Given the description of an element on the screen output the (x, y) to click on. 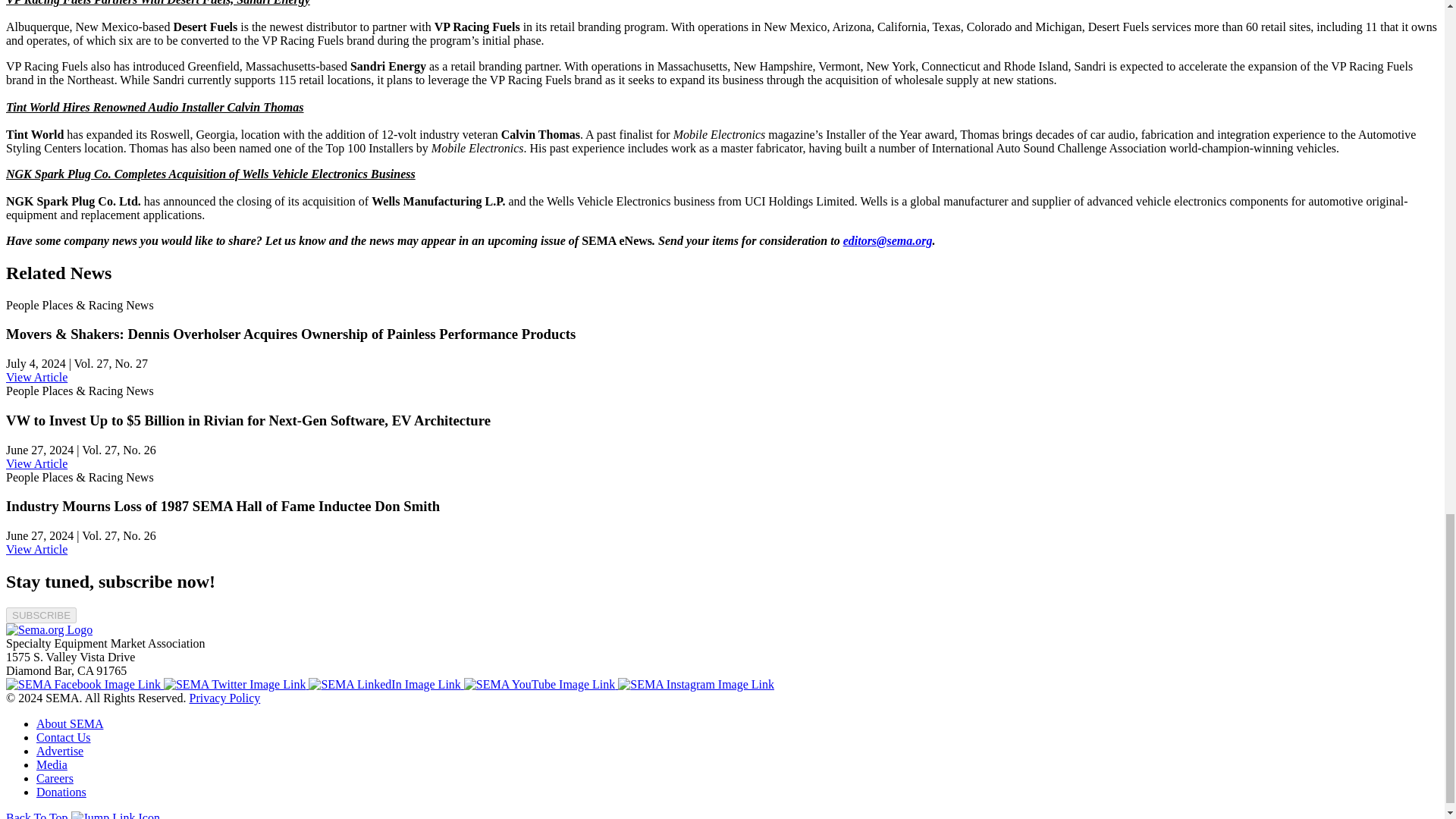
View Article (35, 377)
SEMA YouTube Link (540, 684)
SEMA LinkedIn Link (385, 684)
SEMA Instagram Link (695, 684)
SUBSCRIBE (41, 615)
SEMA Facebook Link (84, 684)
SEMA Twitter Link (235, 684)
View Article (35, 463)
Privacy Policy (224, 697)
View Article (35, 549)
